Given the description of an element on the screen output the (x, y) to click on. 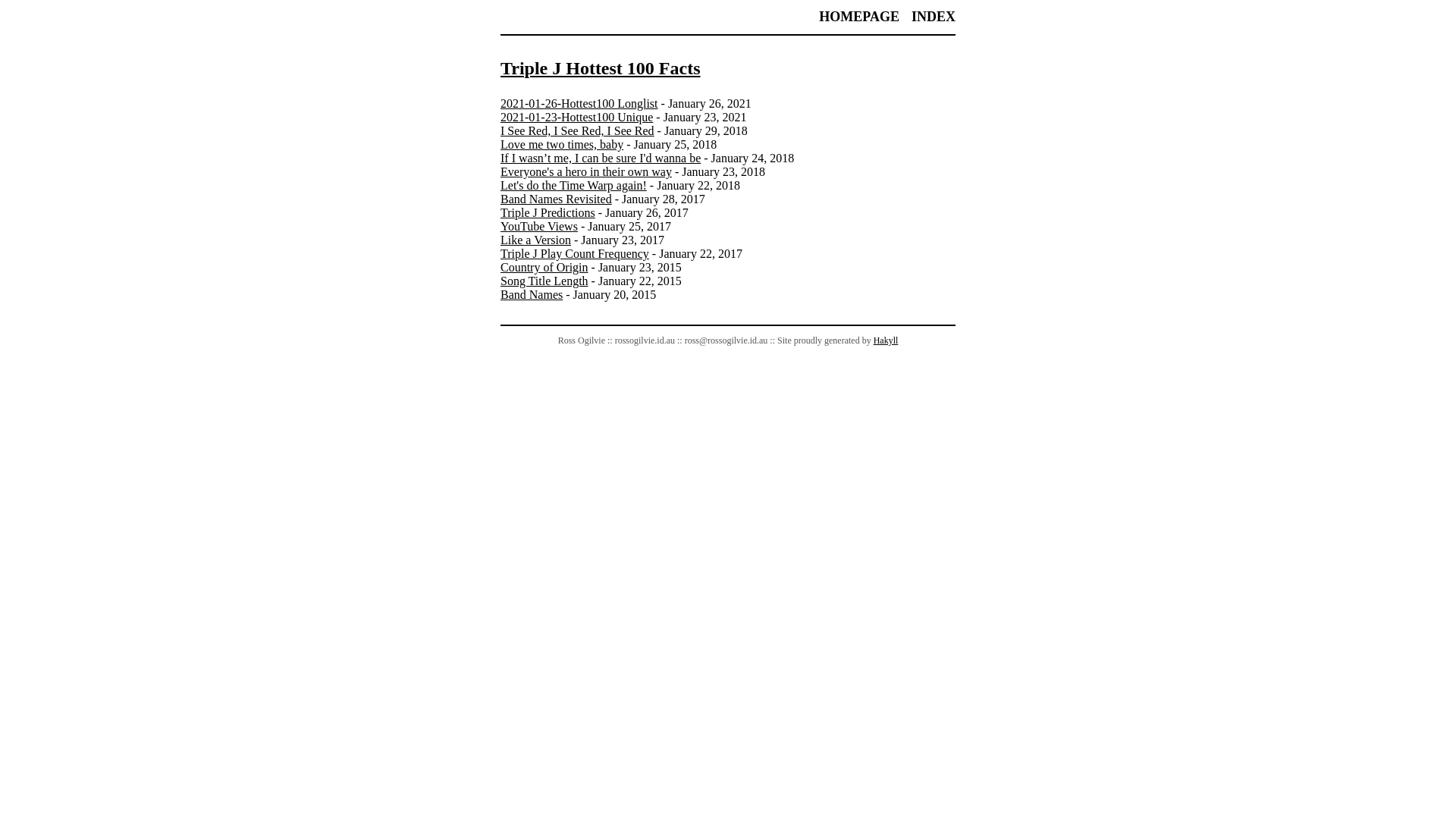
Hakyll Element type: text (885, 340)
I See Red, I See Red, I See Red Element type: text (577, 130)
YouTube Views Element type: text (538, 225)
Song Title Length Element type: text (544, 280)
Triple J Play Count Frequency Element type: text (574, 253)
2021-01-23-Hottest100 Unique Element type: text (576, 116)
Like a Version Element type: text (535, 239)
Country of Origin Element type: text (544, 266)
HOMEPAGE Element type: text (859, 16)
Let's do the Time Warp again! Element type: text (573, 184)
Band Names Element type: text (531, 294)
Band Names Revisited Element type: text (555, 198)
INDEX Element type: text (933, 16)
Everyone's a hero in their own way Element type: text (585, 171)
Love me two times, baby Element type: text (561, 144)
Triple J Predictions Element type: text (547, 212)
2021-01-26-Hottest100 Longlist Element type: text (579, 103)
